Given the description of an element on the screen output the (x, y) to click on. 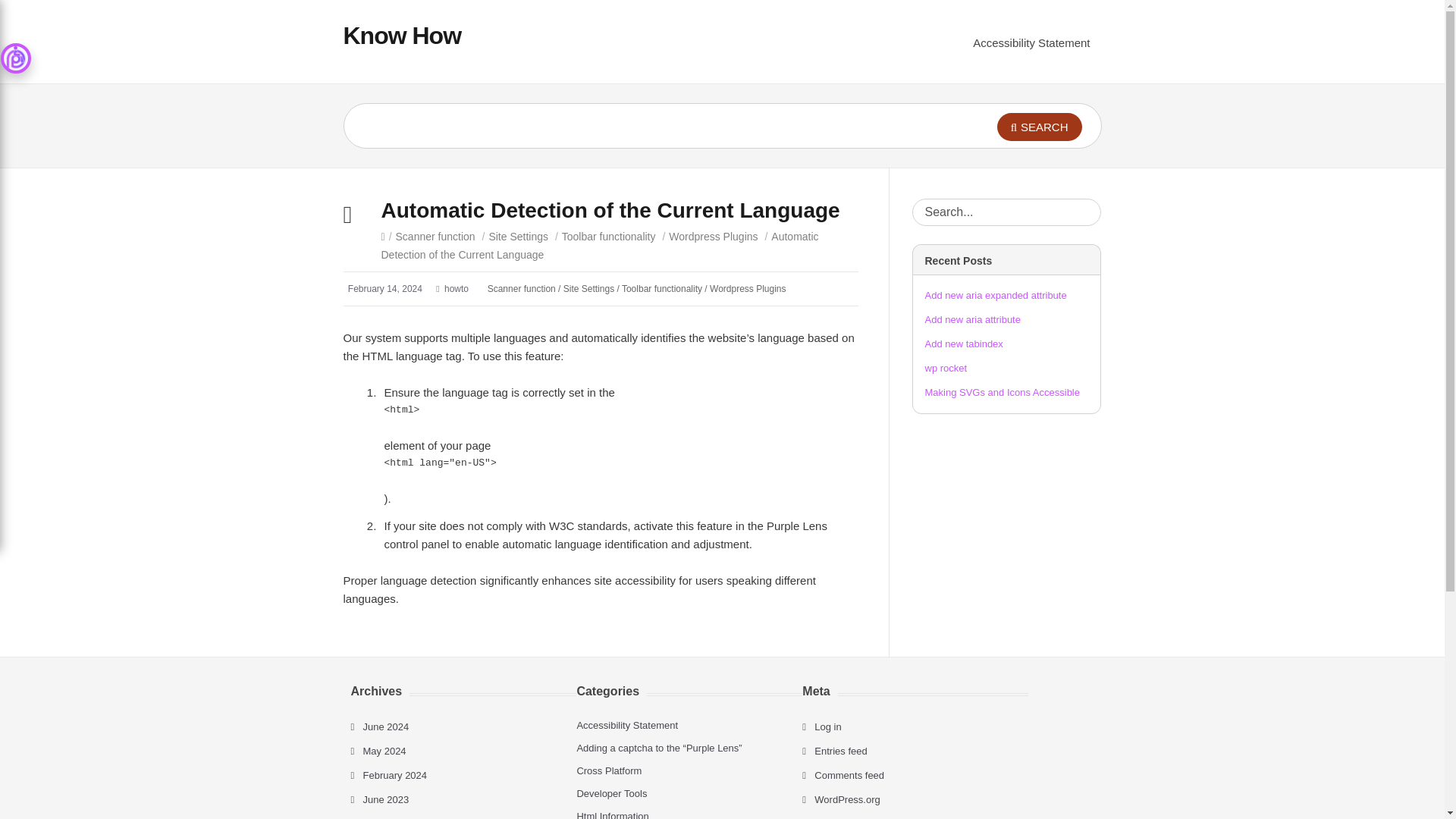
Add new aria expanded attribute (995, 295)
Scanner function (436, 236)
Scanner function (521, 288)
Accessibility Statement (1030, 42)
Add new aria attribute (972, 319)
View all posts in Toolbar functionality (609, 236)
Know How (401, 35)
Know How (401, 35)
open accessibility tool (15, 58)
Add new tabindex (963, 343)
